Given the description of an element on the screen output the (x, y) to click on. 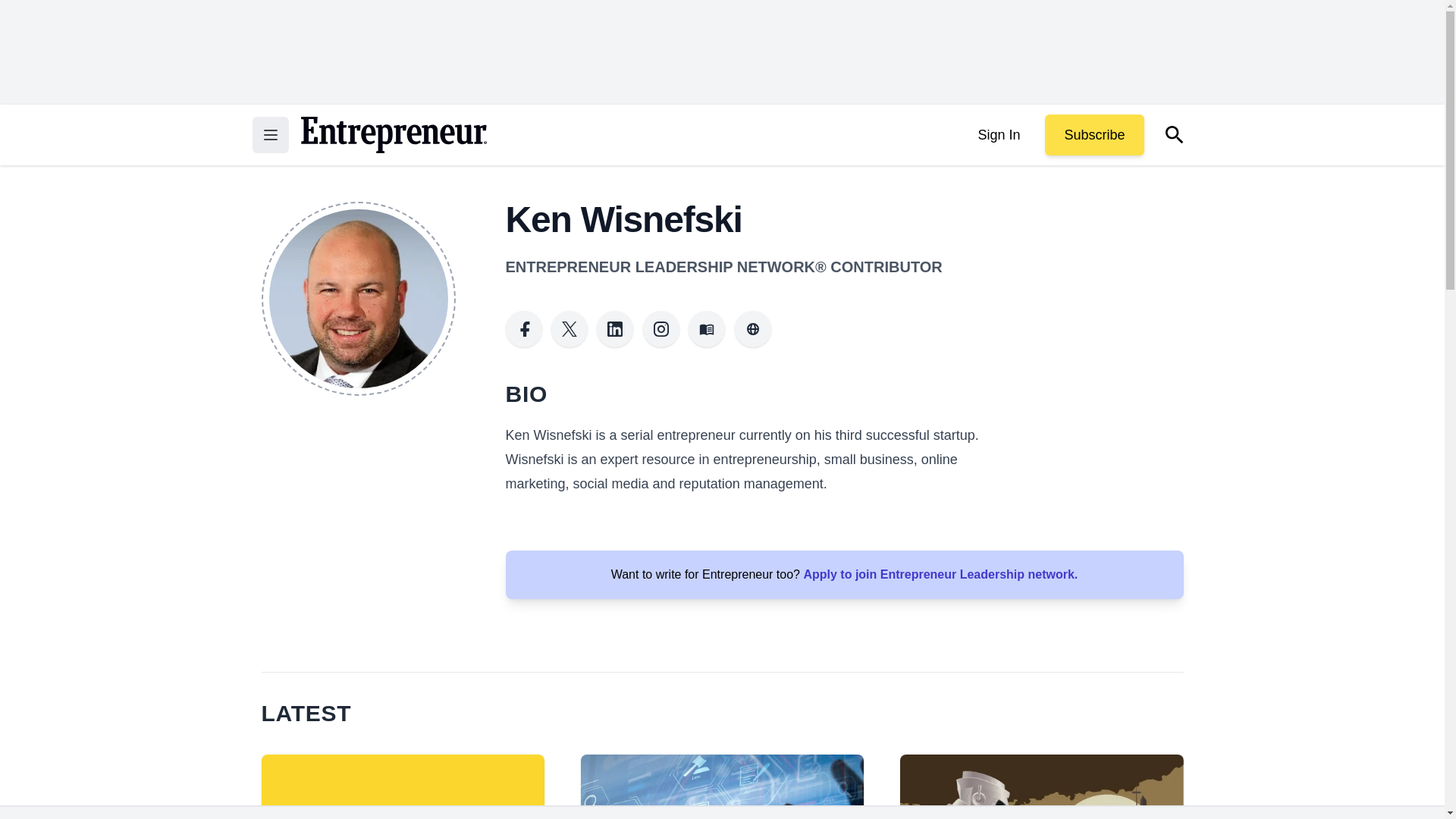
book (706, 329)
linkedin (614, 329)
Sign In (998, 134)
instagram (661, 329)
website (753, 329)
facebook (523, 329)
Return to the home page (392, 135)
twitter (569, 329)
Subscribe (1093, 134)
